Given the description of an element on the screen output the (x, y) to click on. 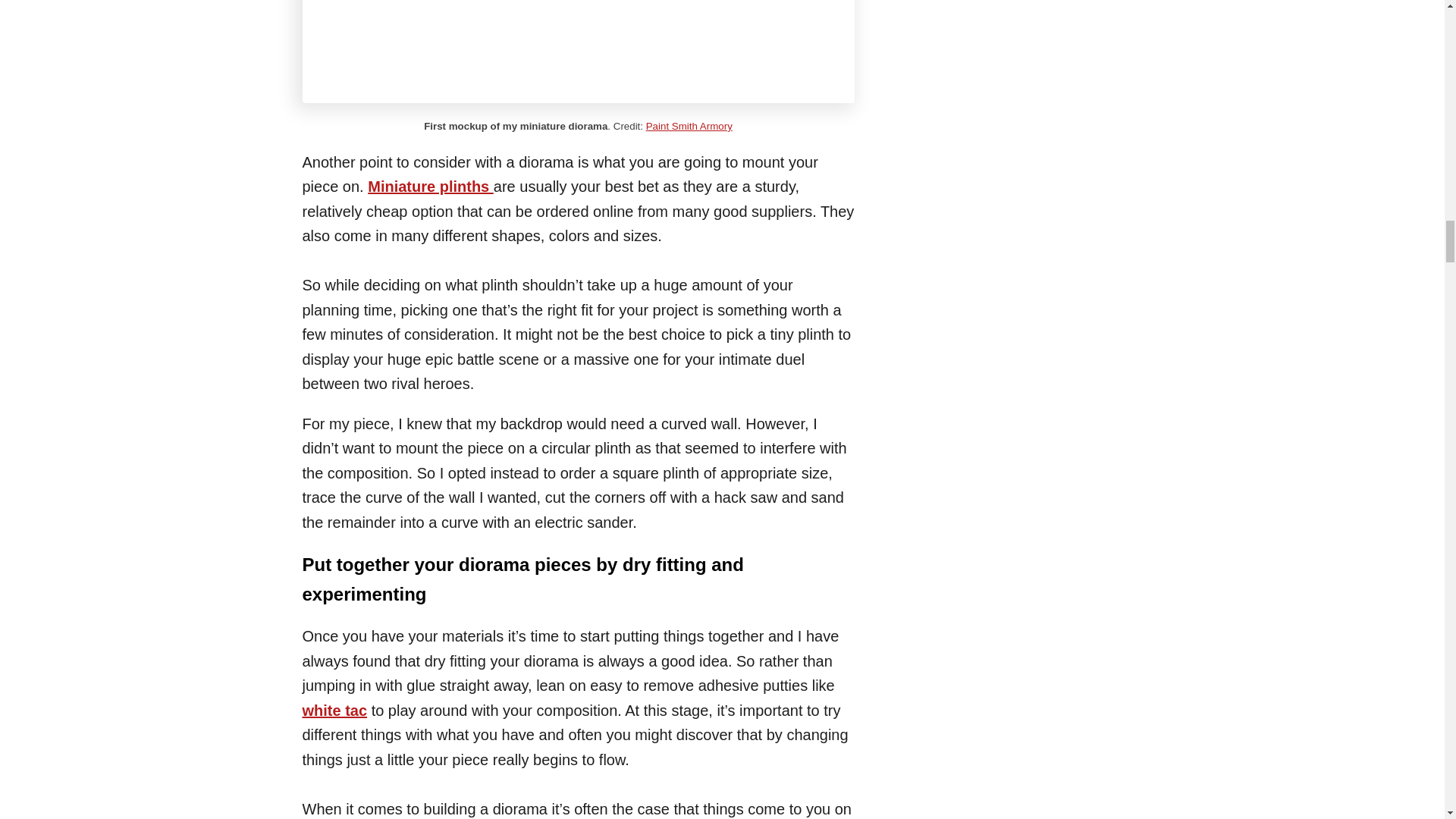
Miniature plinths (430, 186)
white tac (333, 710)
Paint Smith Armory (689, 125)
